Given the description of an element on the screen output the (x, y) to click on. 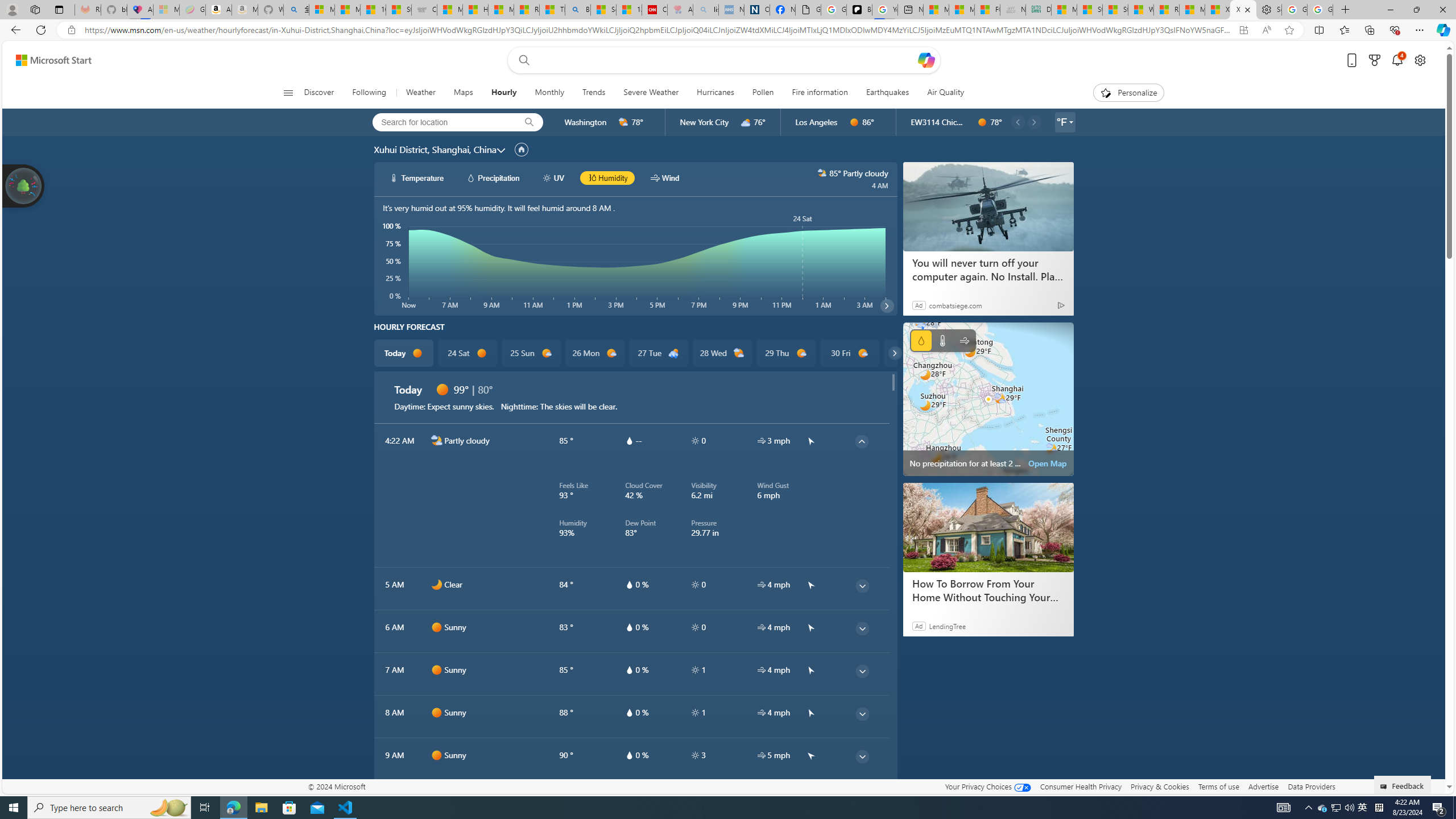
Fire information (820, 92)
Data Providers (1311, 785)
Class: feedback_link_icon-DS-EntryPoint1-1 (1384, 786)
common/carouselChevron (895, 353)
Terms of use (1218, 785)
